Given the description of an element on the screen output the (x, y) to click on. 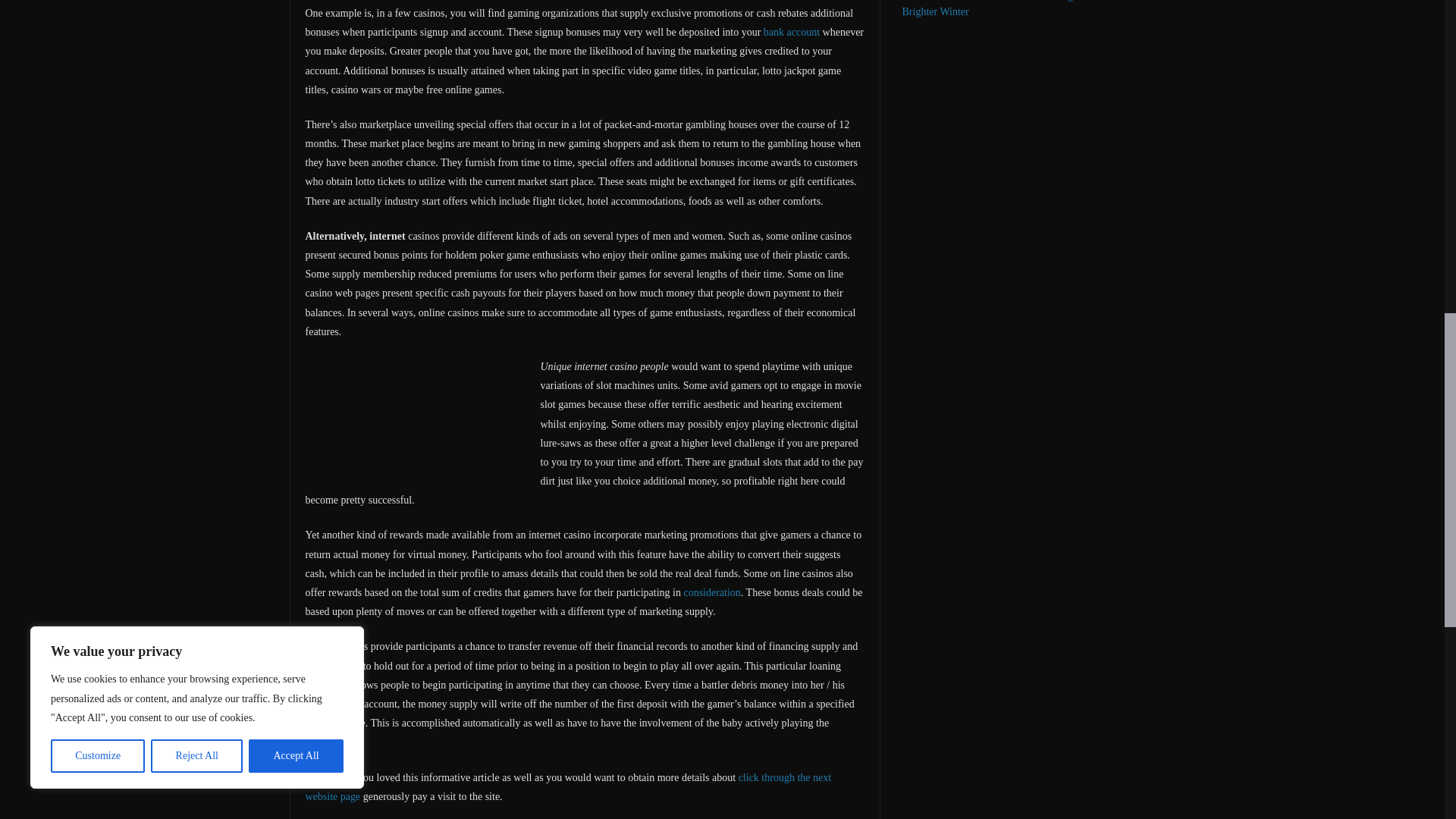
consideration (710, 592)
click through the next website page (567, 787)
bank account (790, 31)
